Given the description of an element on the screen output the (x, y) to click on. 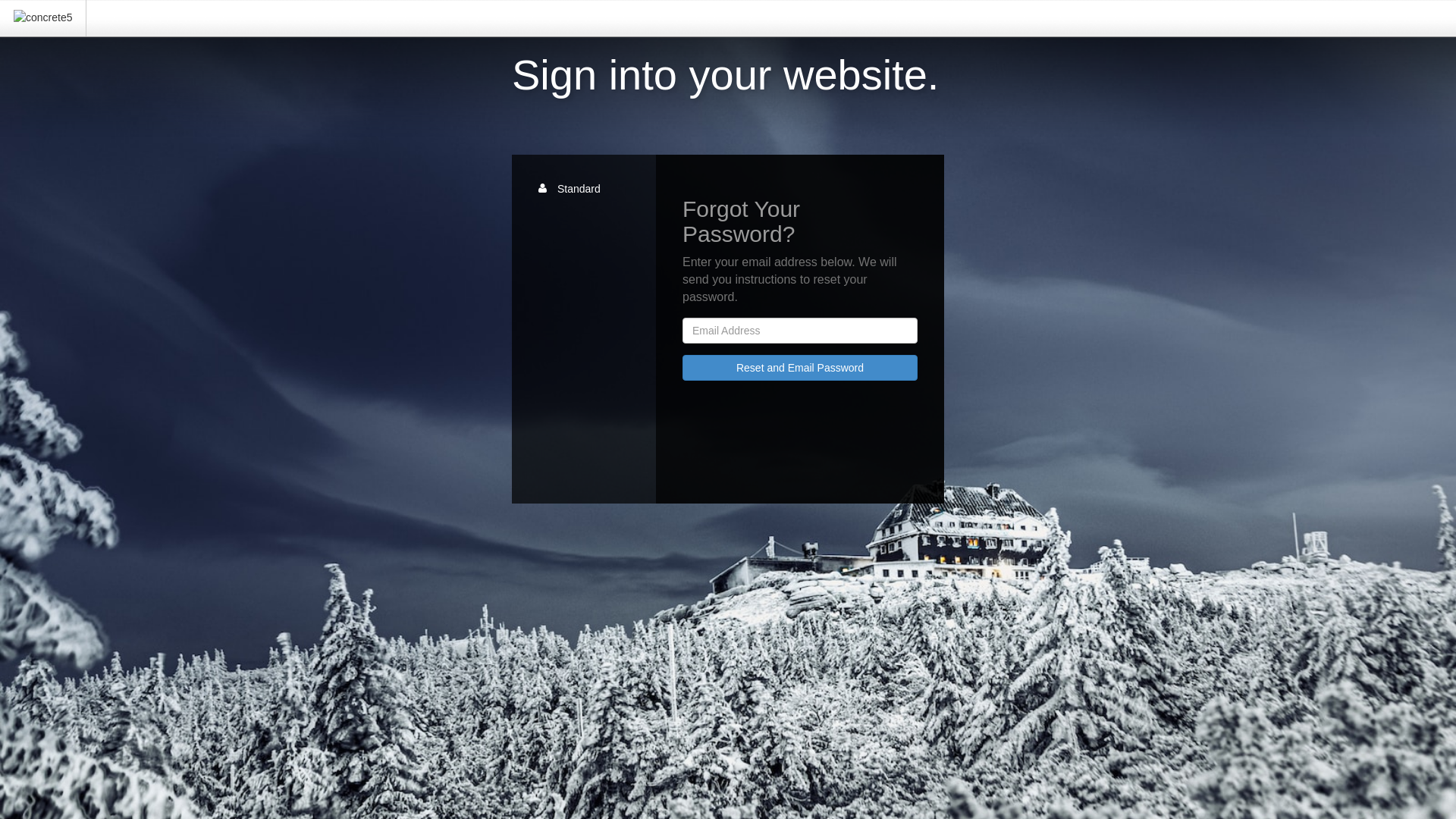
concrete5 Element type: hover (42, 17)
Reset and Email Password Element type: text (799, 367)
